Given the description of an element on the screen output the (x, y) to click on. 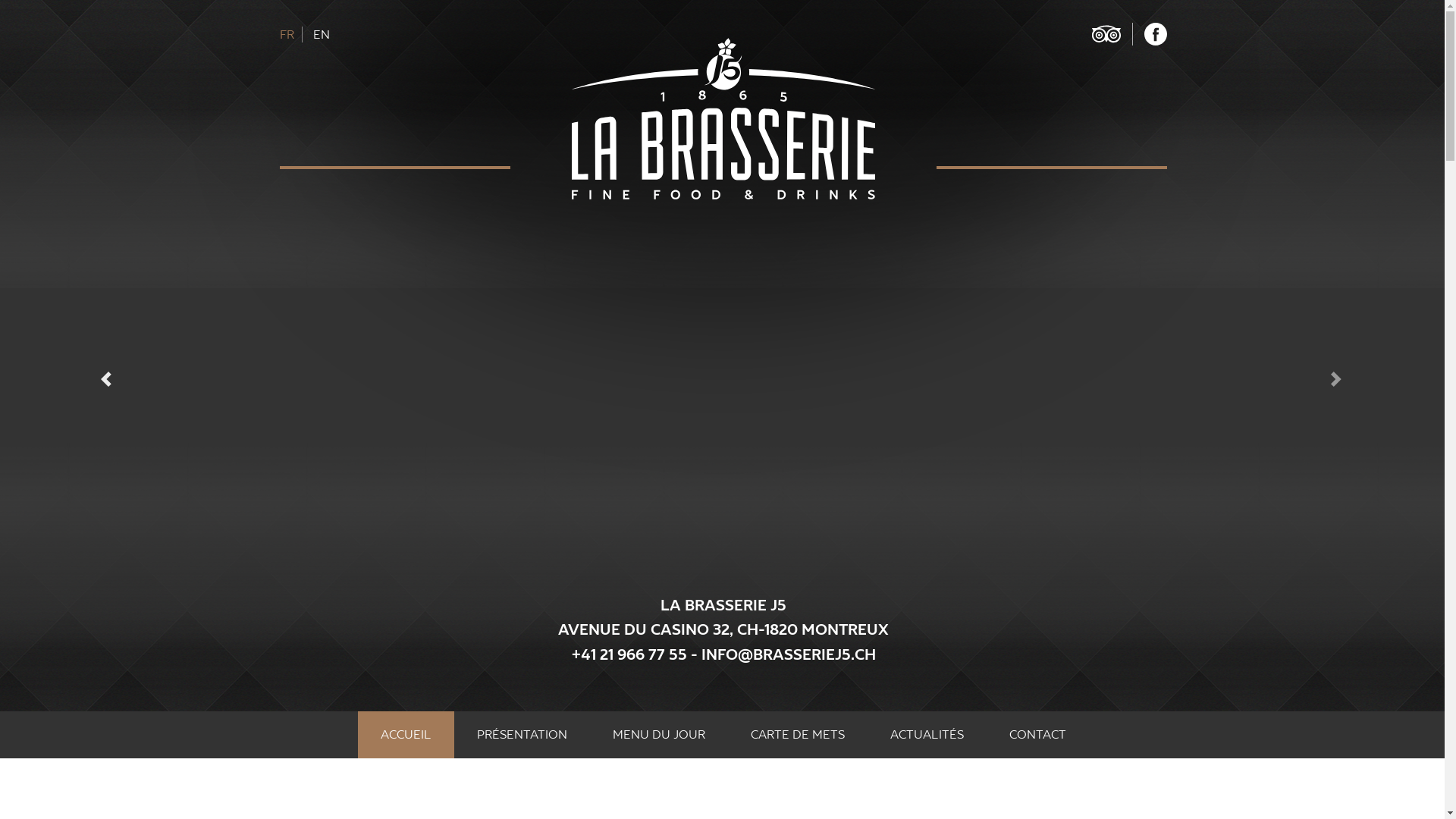
ACCUEIL Element type: text (405, 734)
MENU DU JOUR Element type: text (658, 734)
EN Element type: text (321, 34)
CARTE DE METS Element type: text (797, 734)
CONTACT Element type: text (1037, 734)
FR Element type: text (290, 34)
INFO@BRASSERIEJ5.CH Element type: text (787, 654)
